Given the description of an element on the screen output the (x, y) to click on. 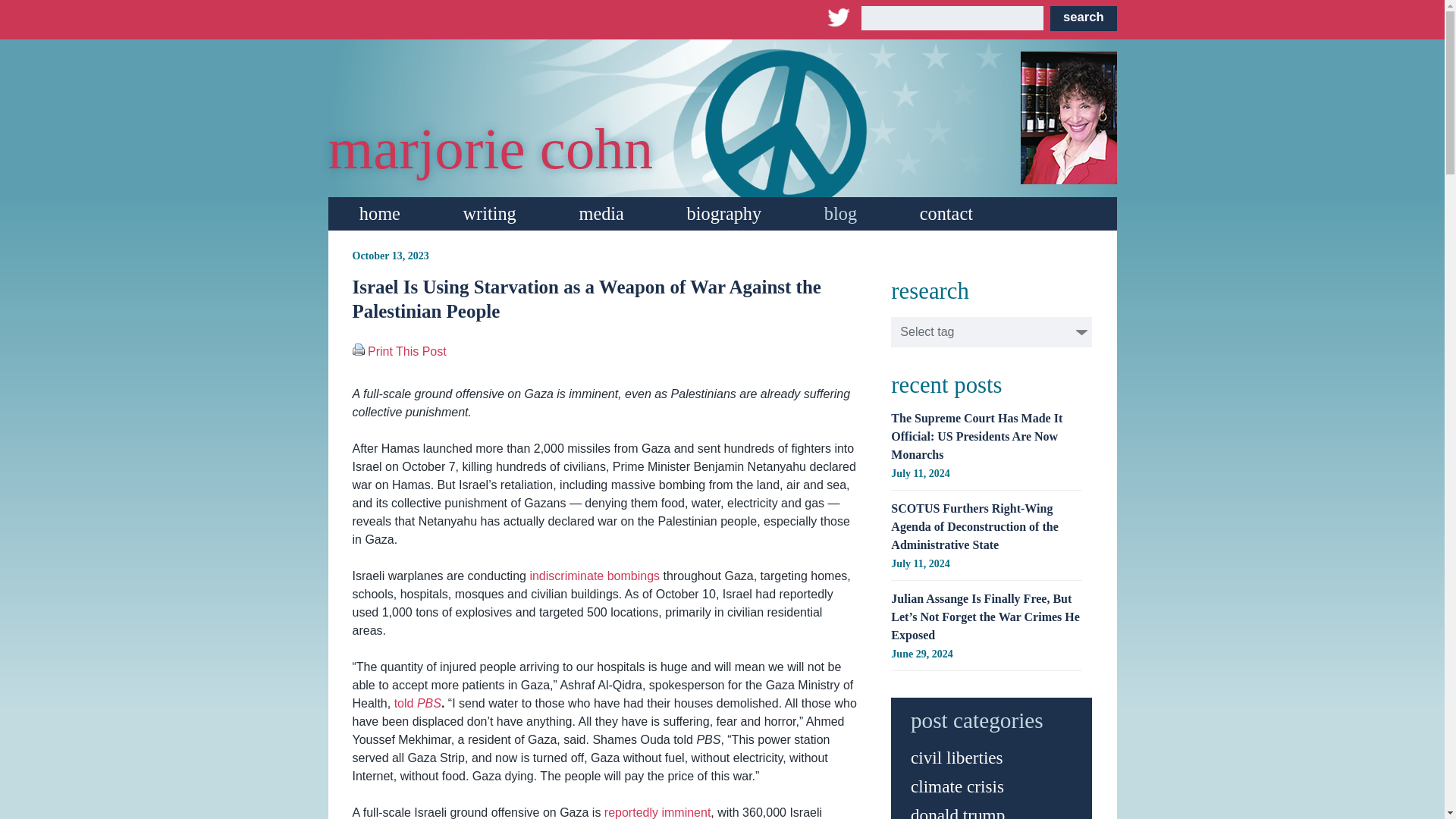
contact (946, 213)
Print This Post (407, 350)
told PBS (417, 703)
biography (723, 213)
Search (1082, 18)
media (601, 213)
blog (840, 213)
Print This Post (407, 350)
writing (488, 213)
Print This Post (358, 349)
Search (1082, 18)
marjorie cohn (489, 148)
indiscriminate bombings (594, 575)
reportedly imminent (657, 812)
Print This Post (358, 350)
